Given the description of an element on the screen output the (x, y) to click on. 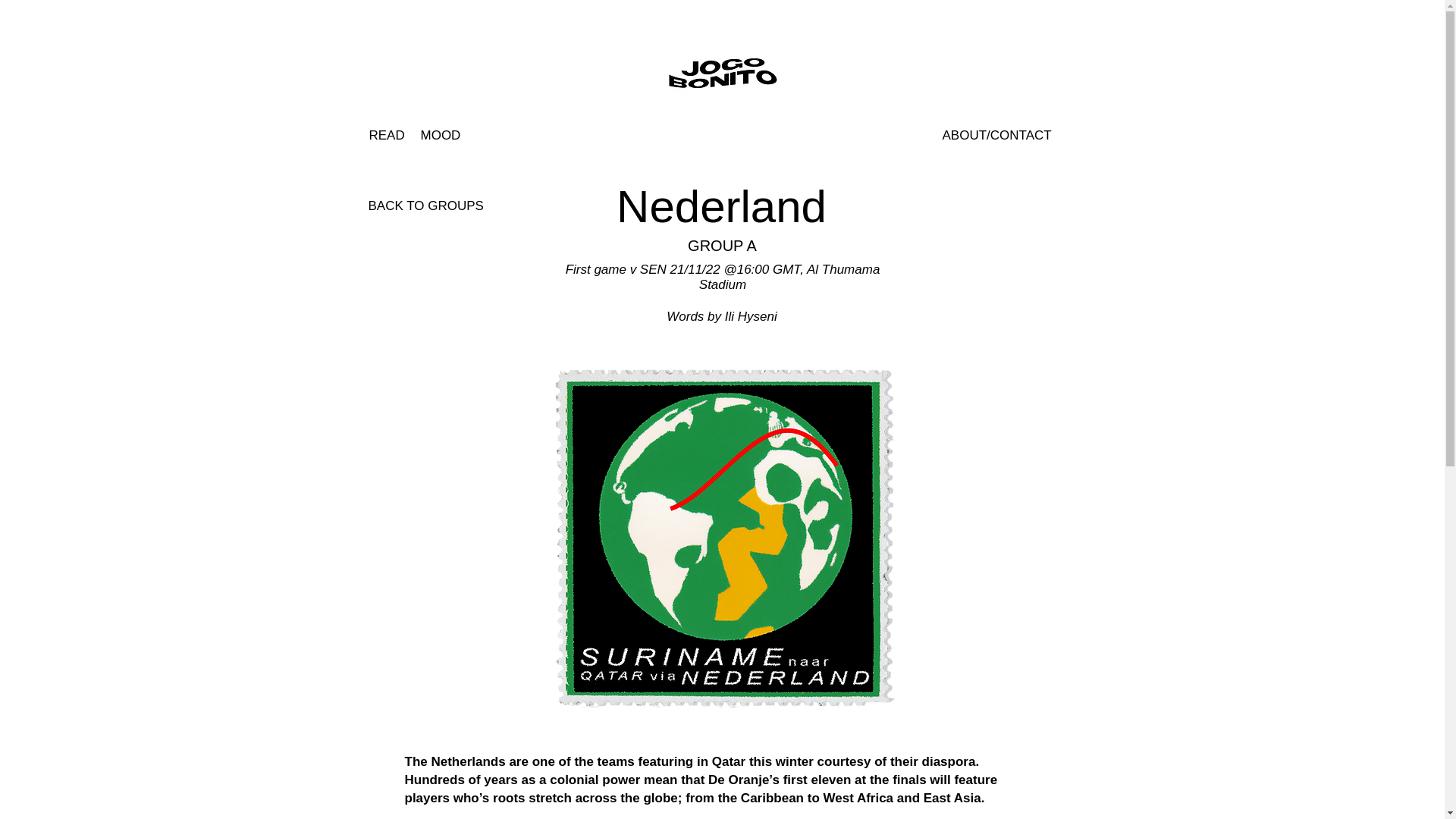
MOOD (440, 134)
BACK TO GROUPS (425, 205)
READ (386, 134)
